Given the description of an element on the screen output the (x, y) to click on. 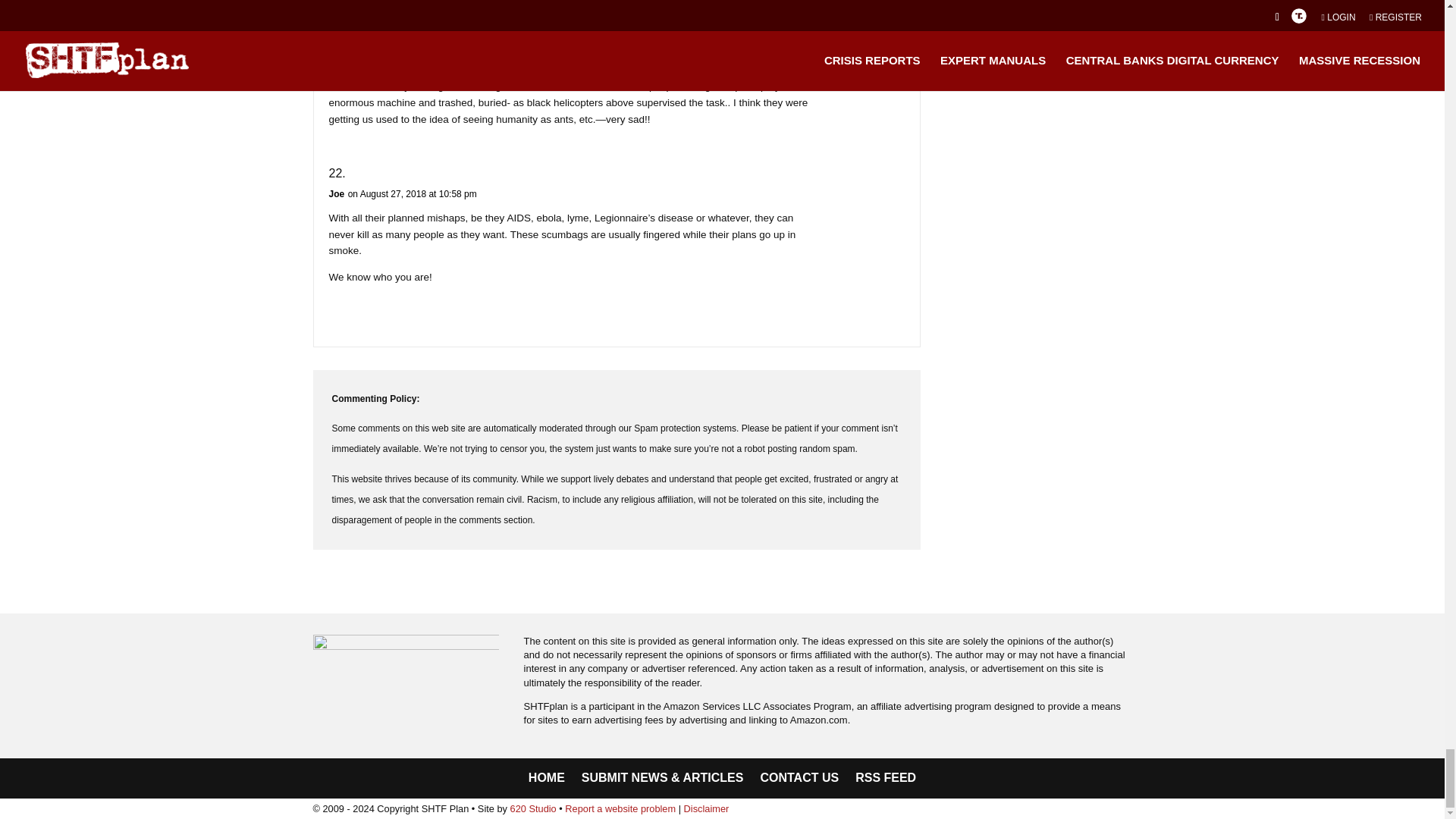
SFP-logo (406, 654)
